Given the description of an element on the screen output the (x, y) to click on. 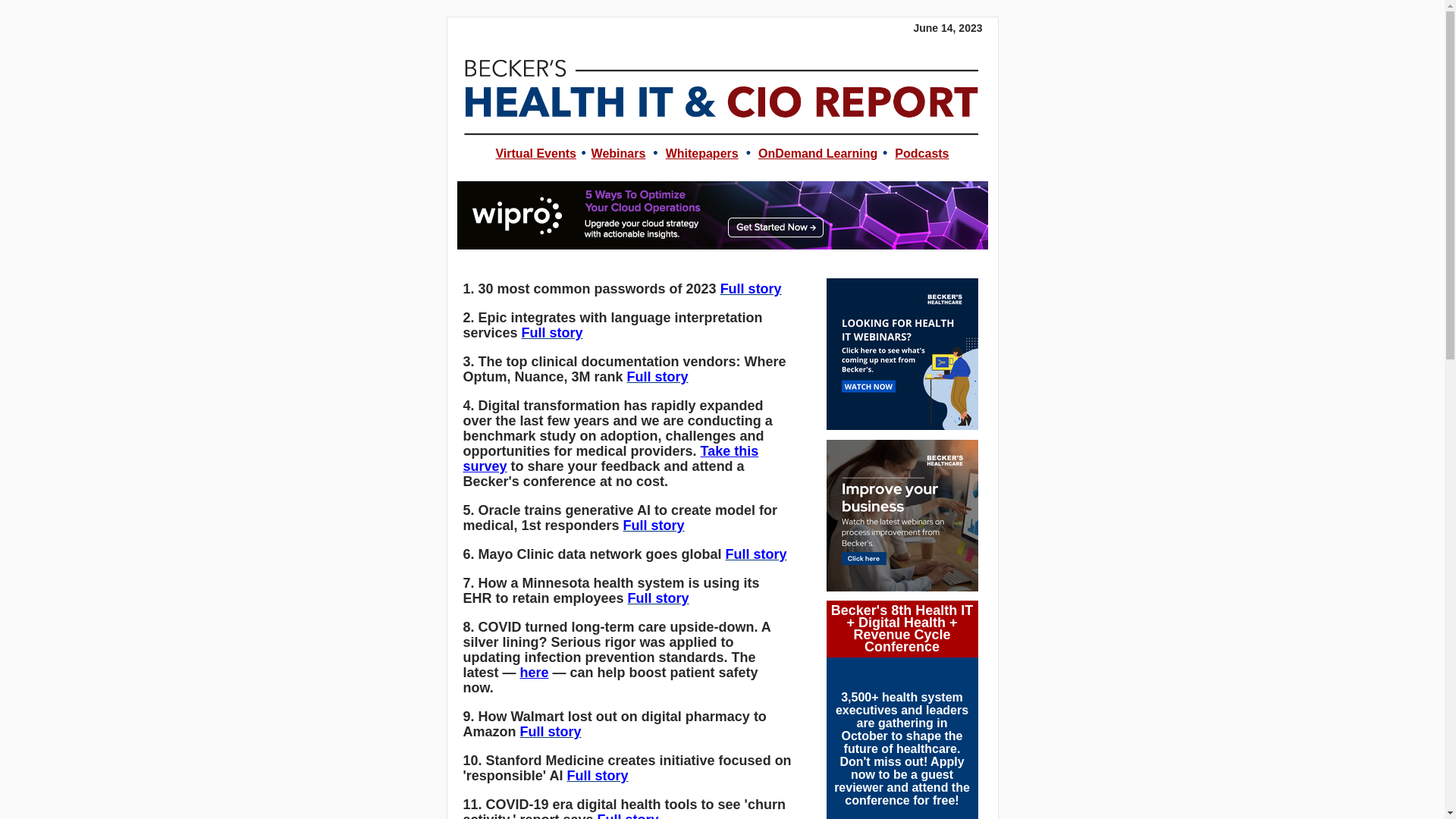
Full story (750, 288)
Full story (653, 525)
Full story (596, 775)
Full story (549, 731)
Full story (657, 598)
Virtual Events (535, 153)
OnDemand Learning (817, 153)
Take this survey (610, 458)
Podcasts (922, 153)
Full story (627, 815)
Full story (756, 554)
here (533, 672)
Full story (657, 376)
Full story (552, 332)
Whitepapers (701, 153)
